Given the description of an element on the screen output the (x, y) to click on. 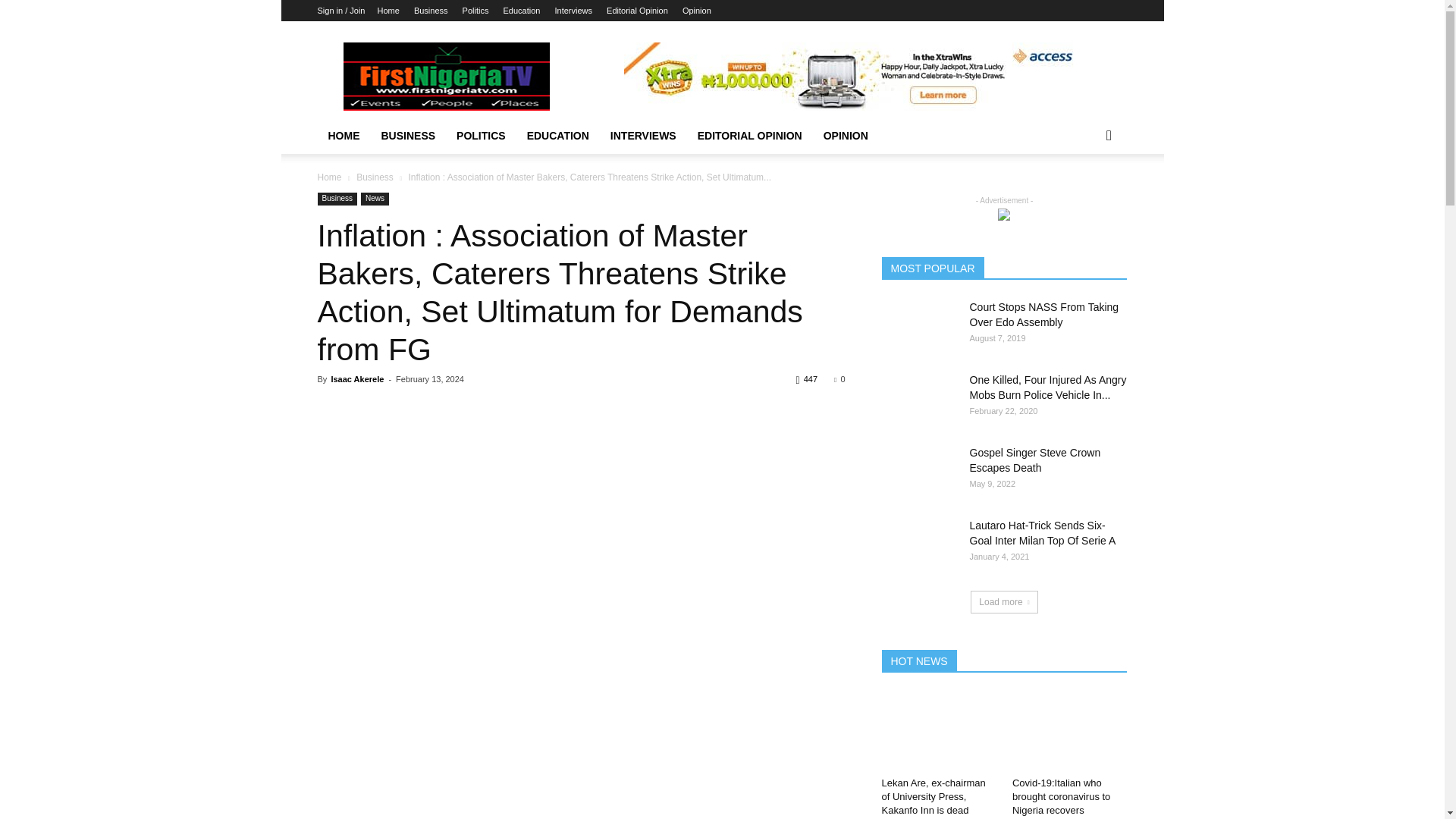
View all posts in Business (374, 176)
EDUCATION (557, 135)
OPINION (845, 135)
POLITICS (480, 135)
Editorial Opinion (637, 10)
BUSINESS (407, 135)
Opinion (696, 10)
Education (521, 10)
HOME (343, 135)
Politics (476, 10)
INTERVIEWS (643, 135)
EDITORIAL OPINION (749, 135)
Home (387, 10)
Business (430, 10)
Interviews (573, 10)
